Given the description of an element on the screen output the (x, y) to click on. 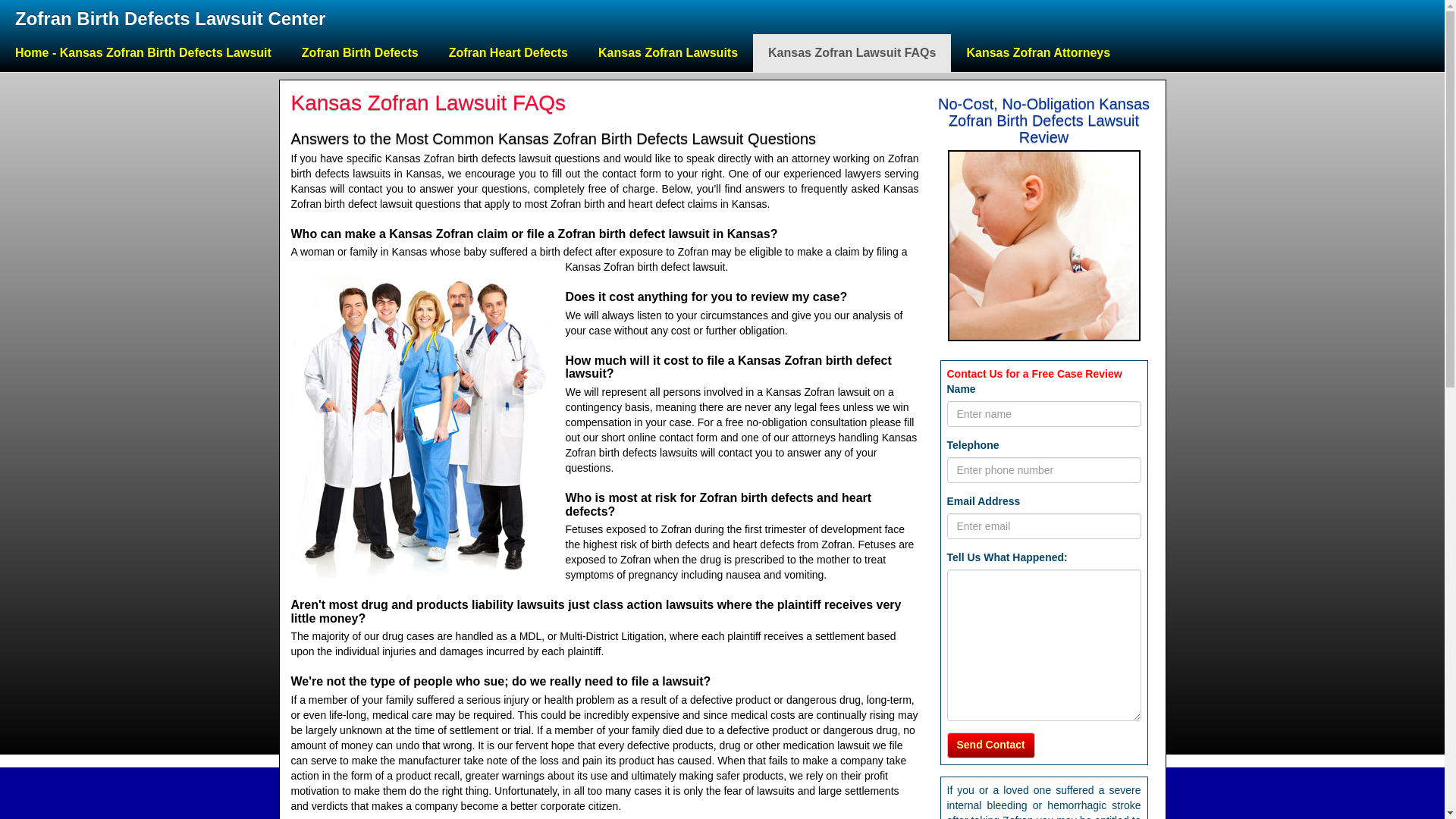
Kansas Zofran Birth Defects Attorneys (1037, 53)
Kansas Zofran Birth Defects (359, 53)
Zofran Birth Defects Lawsuit Center (170, 17)
Kansas Zofran Lawsuits (667, 53)
Kansas Zofran Lawsuit FAQs (851, 53)
Zofran Heart Defects (508, 53)
Send Contact (989, 745)
Kansas Zofran Attorneys (1037, 53)
Kansas Zofran Heart Defects (508, 53)
Kansas Zofran Lawsuit FAQs (851, 53)
